Given the description of an element on the screen output the (x, y) to click on. 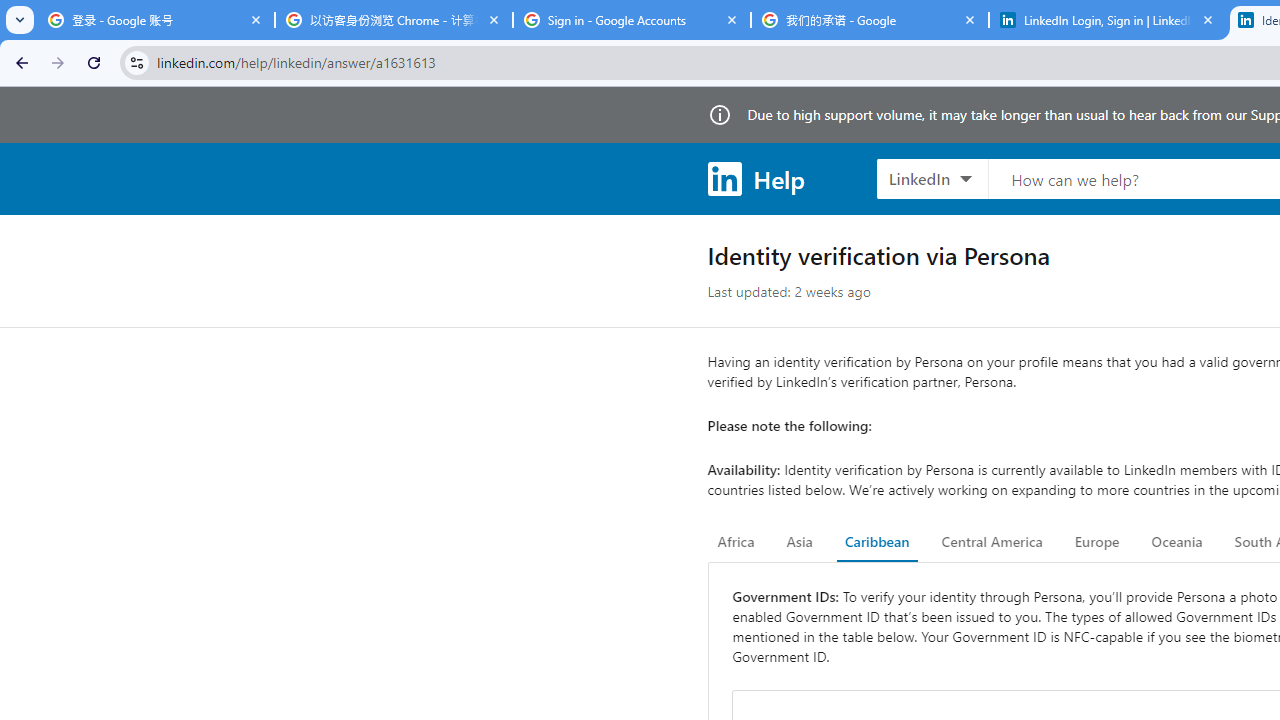
Central America (991, 542)
LinkedIn Login, Sign in | LinkedIn (1108, 20)
Oceania (1176, 542)
